Given the description of an element on the screen output the (x, y) to click on. 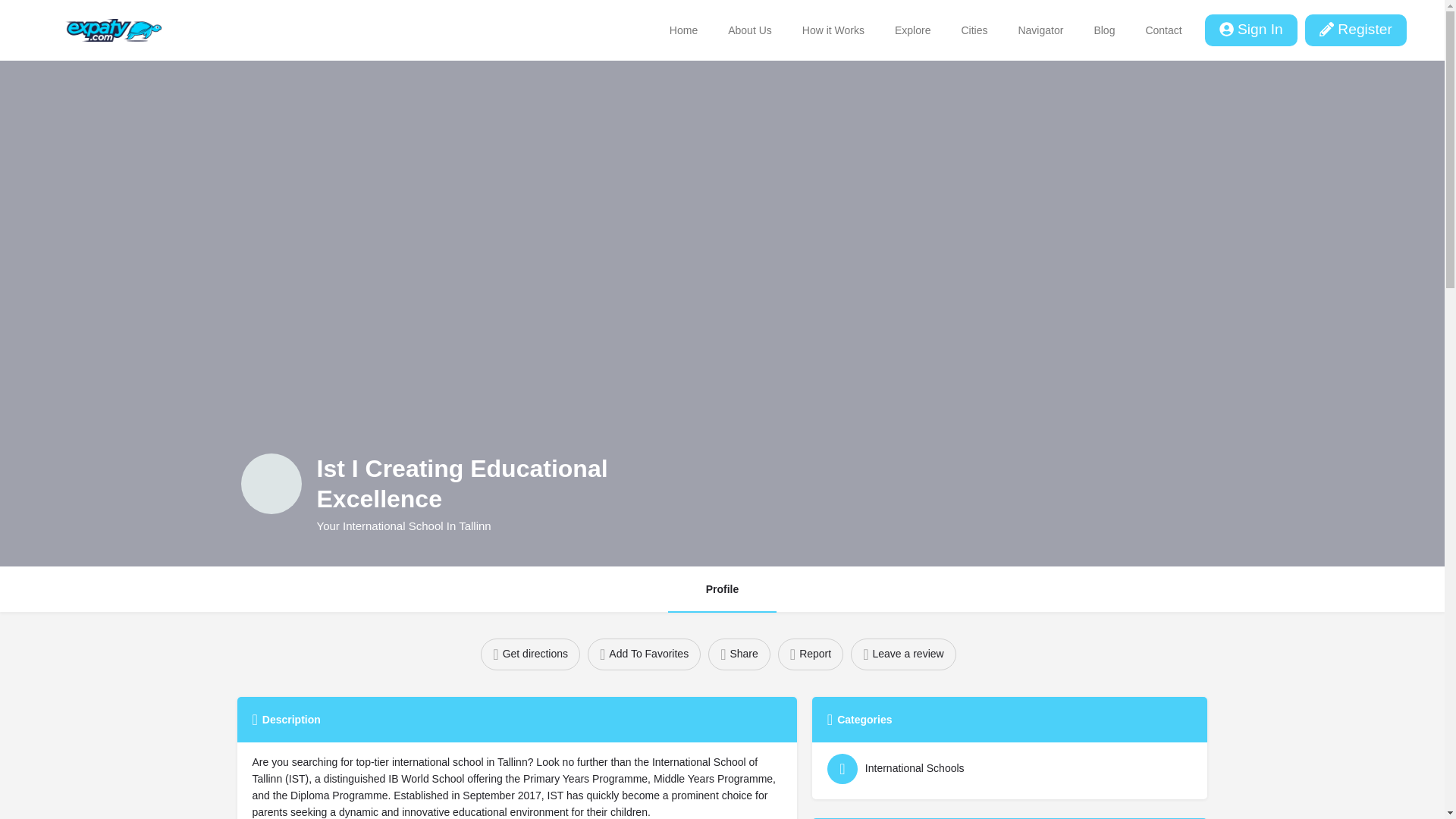
Navigator (1040, 30)
About Us (750, 30)
How it Works (833, 30)
Contact (1162, 30)
Cities (973, 30)
Explore (911, 30)
Home (683, 30)
Blog (1103, 30)
